Given the description of an element on the screen output the (x, y) to click on. 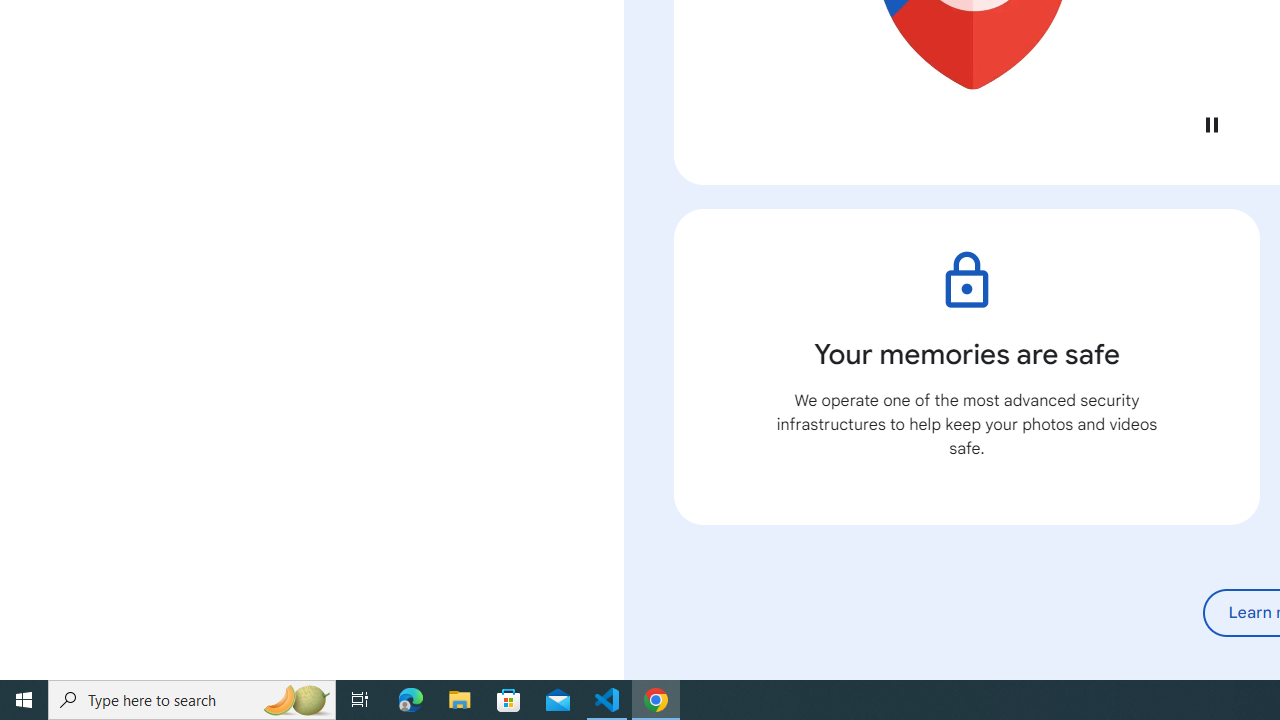
Play video (1211, 124)
Padlock icon indicating security.  (966, 280)
